Given the description of an element on the screen output the (x, y) to click on. 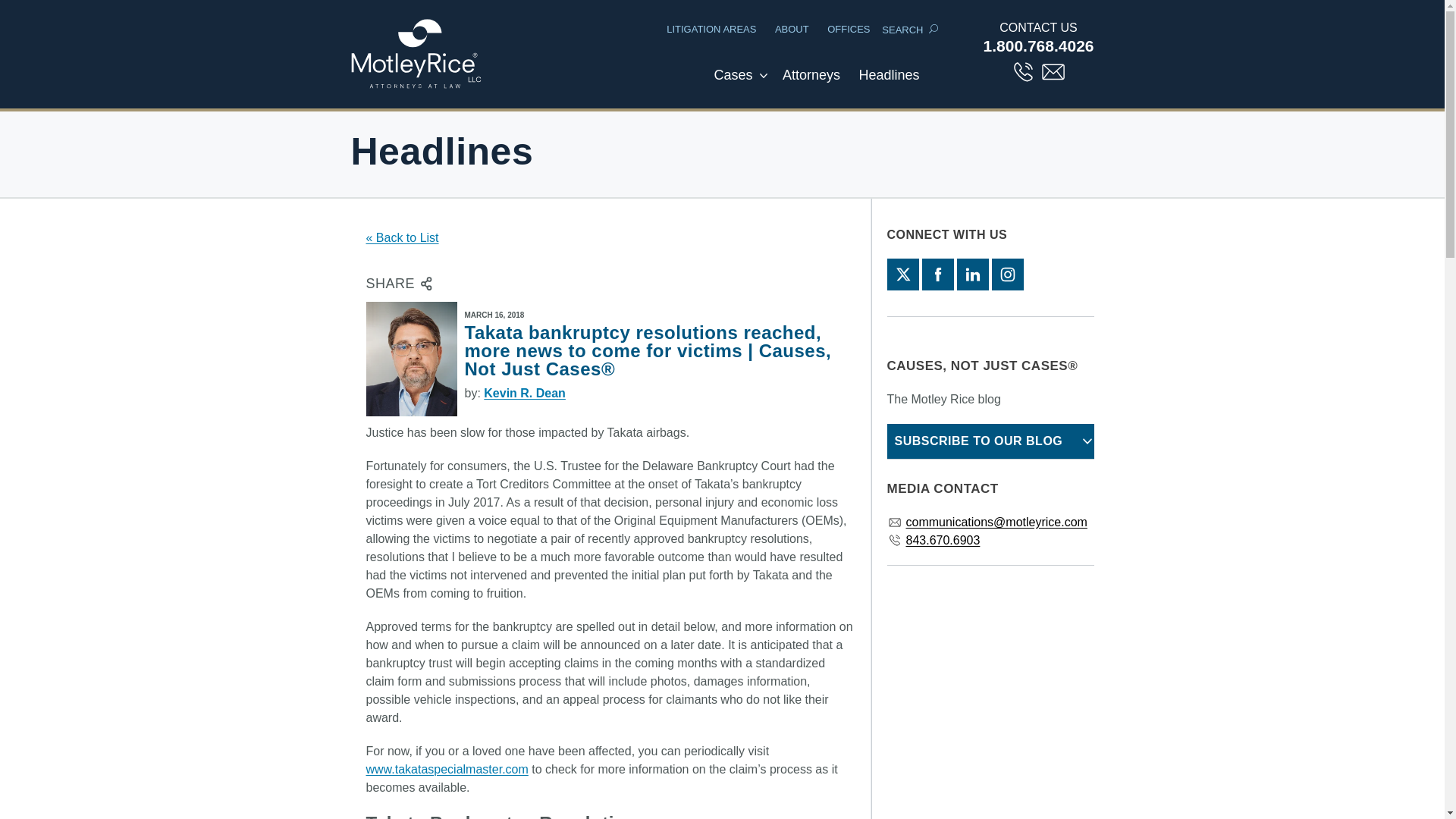
CONTACT US (1039, 27)
Attorneys (810, 84)
Email (1053, 71)
Motley Rice - Attorneys at Law (423, 54)
Cases (733, 84)
Phone (1023, 71)
LITIGATION AREAS (710, 29)
1.800.768.4026 (1039, 45)
Open (763, 75)
Kevin R. Dean (524, 392)
